Given the description of an element on the screen output the (x, y) to click on. 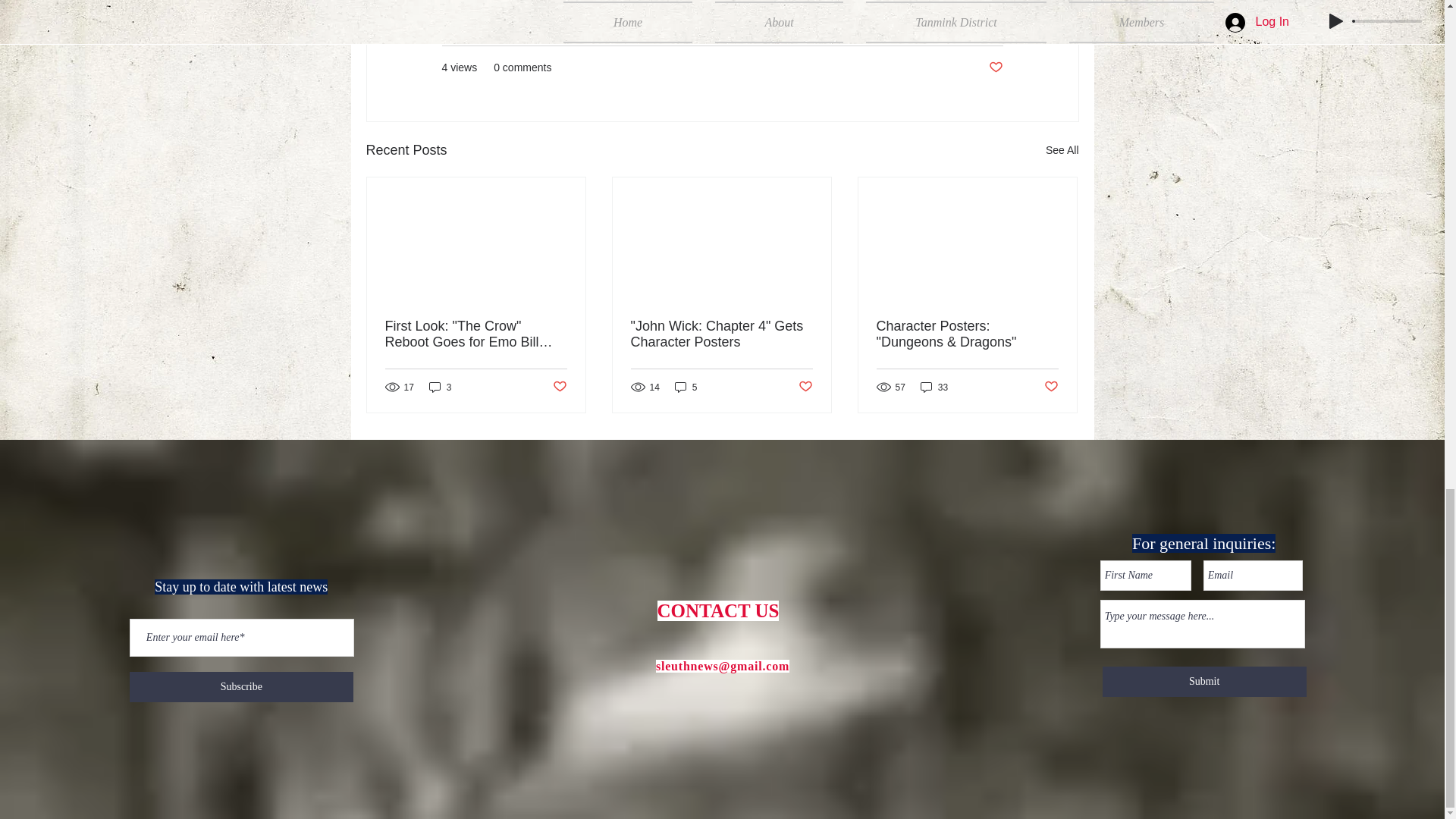
Photos (986, 21)
3 (440, 386)
"John Wick: Chapter 4" Gets Character Posters (721, 334)
33 (933, 386)
Post not marked as liked (558, 386)
See All (1061, 150)
Post not marked as liked (1050, 386)
Post not marked as liked (804, 386)
5 (685, 386)
Post not marked as liked (995, 67)
